Given the description of an element on the screen output the (x, y) to click on. 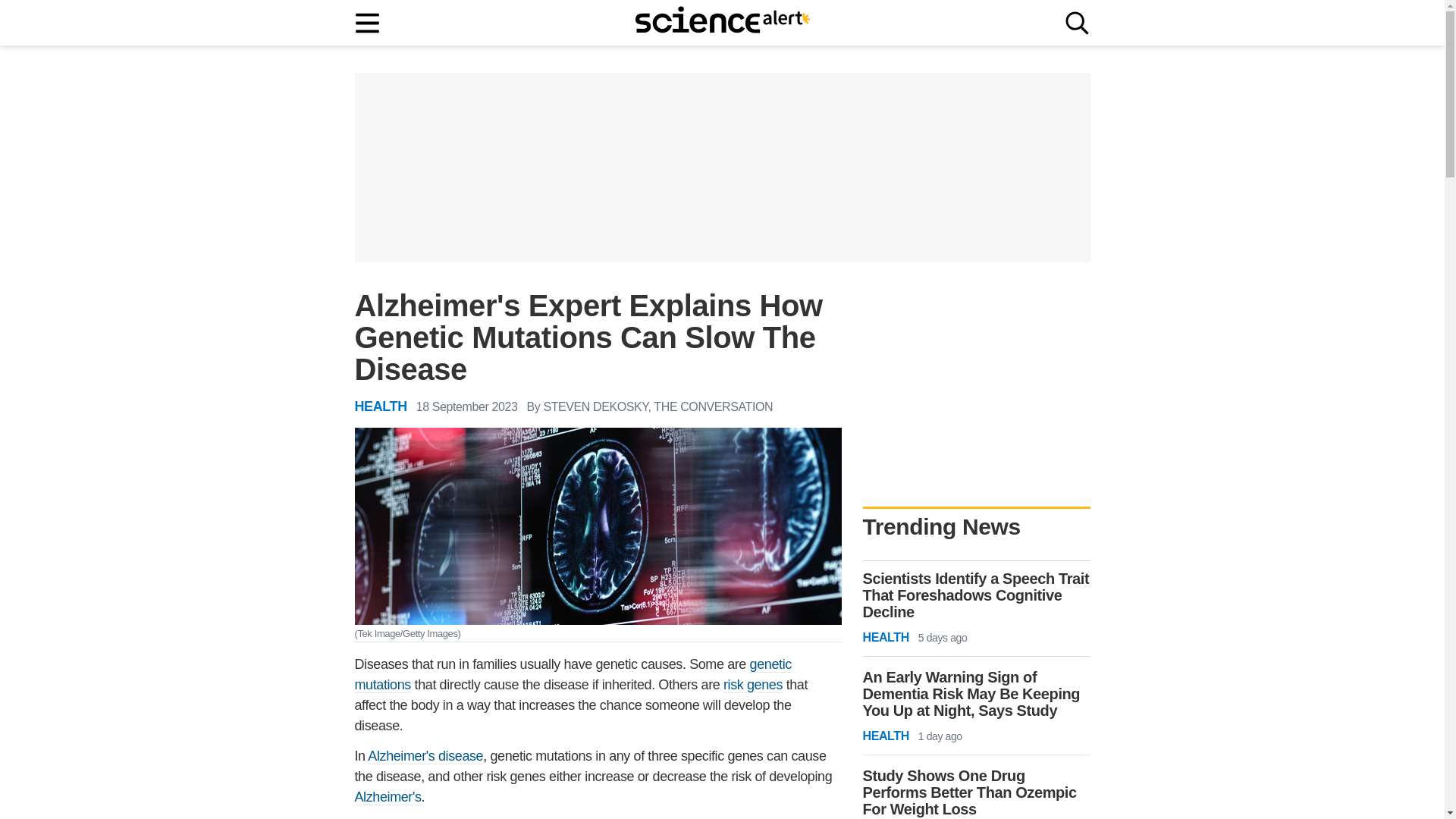
risk genes (753, 684)
HEALTH (381, 406)
Alzheimer's disease (425, 756)
genetic mutations (573, 674)
Alzheimer's (388, 797)
